Given the description of an element on the screen output the (x, y) to click on. 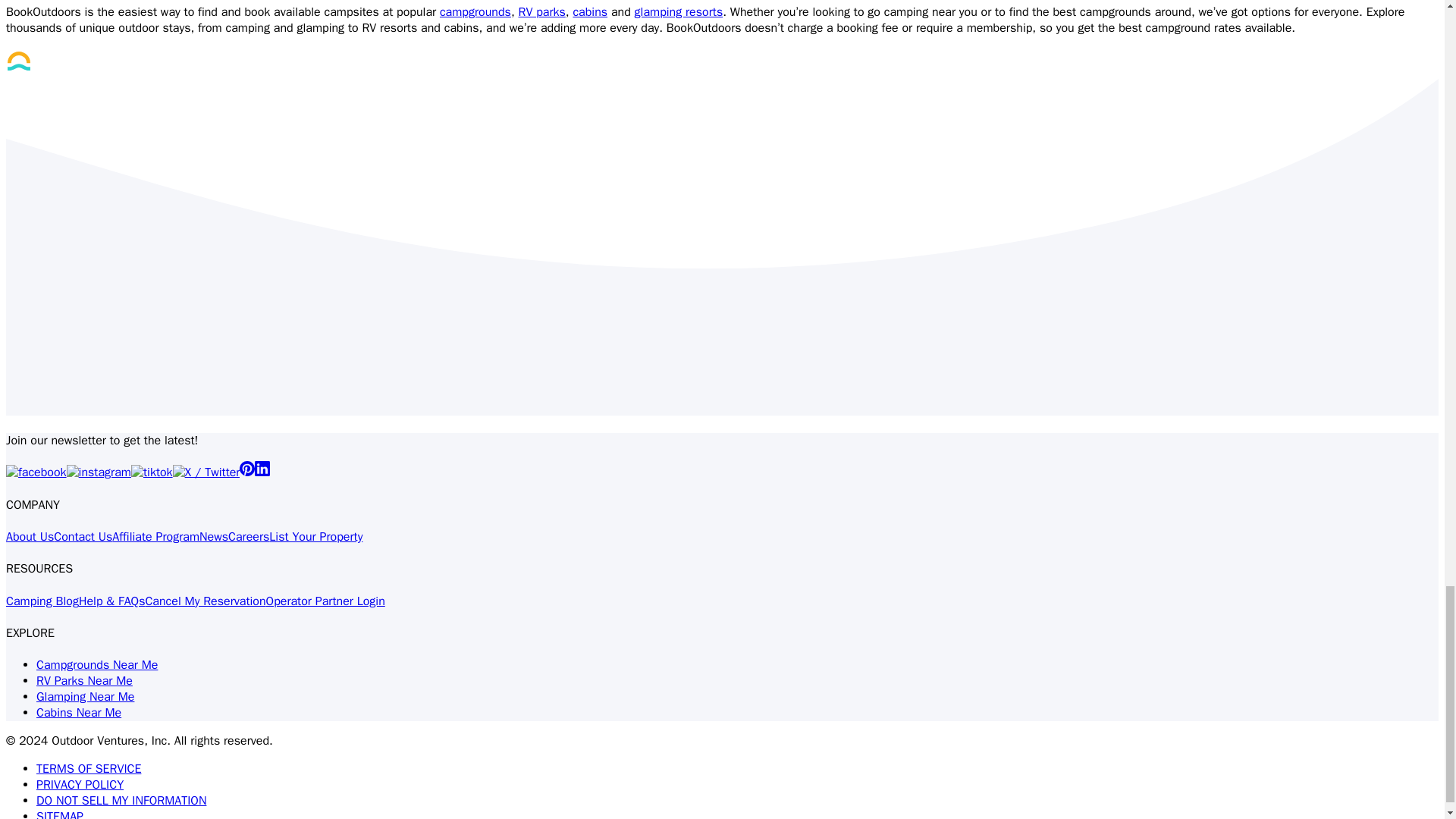
RV parks (541, 11)
Affiliate Program (155, 536)
Contact Us (82, 536)
glamping resorts (678, 11)
News (213, 536)
About Us (29, 536)
cabins (589, 11)
campgrounds (475, 11)
